Given the description of an element on the screen output the (x, y) to click on. 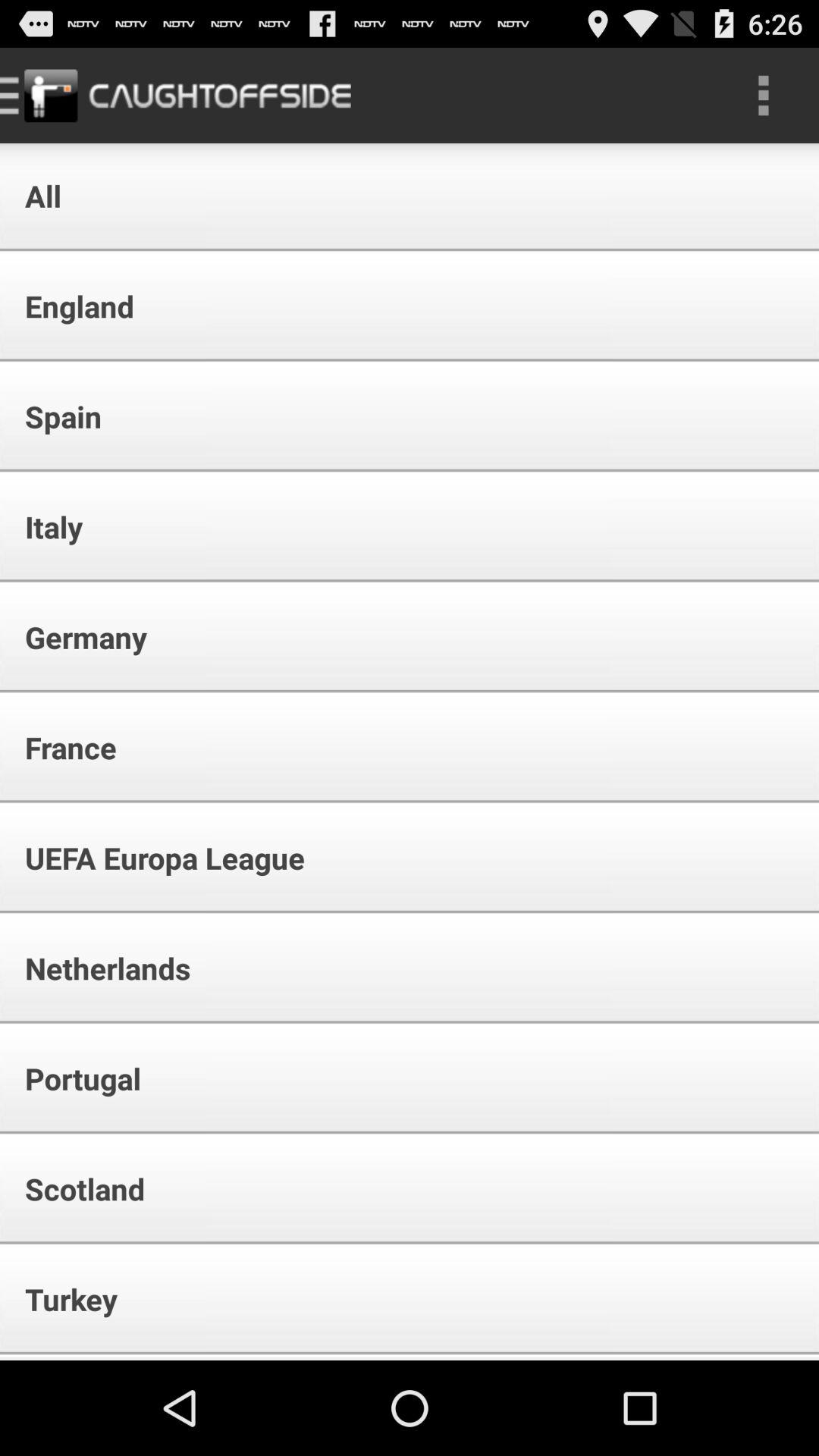
turn off portugal icon (73, 1078)
